Given the description of an element on the screen output the (x, y) to click on. 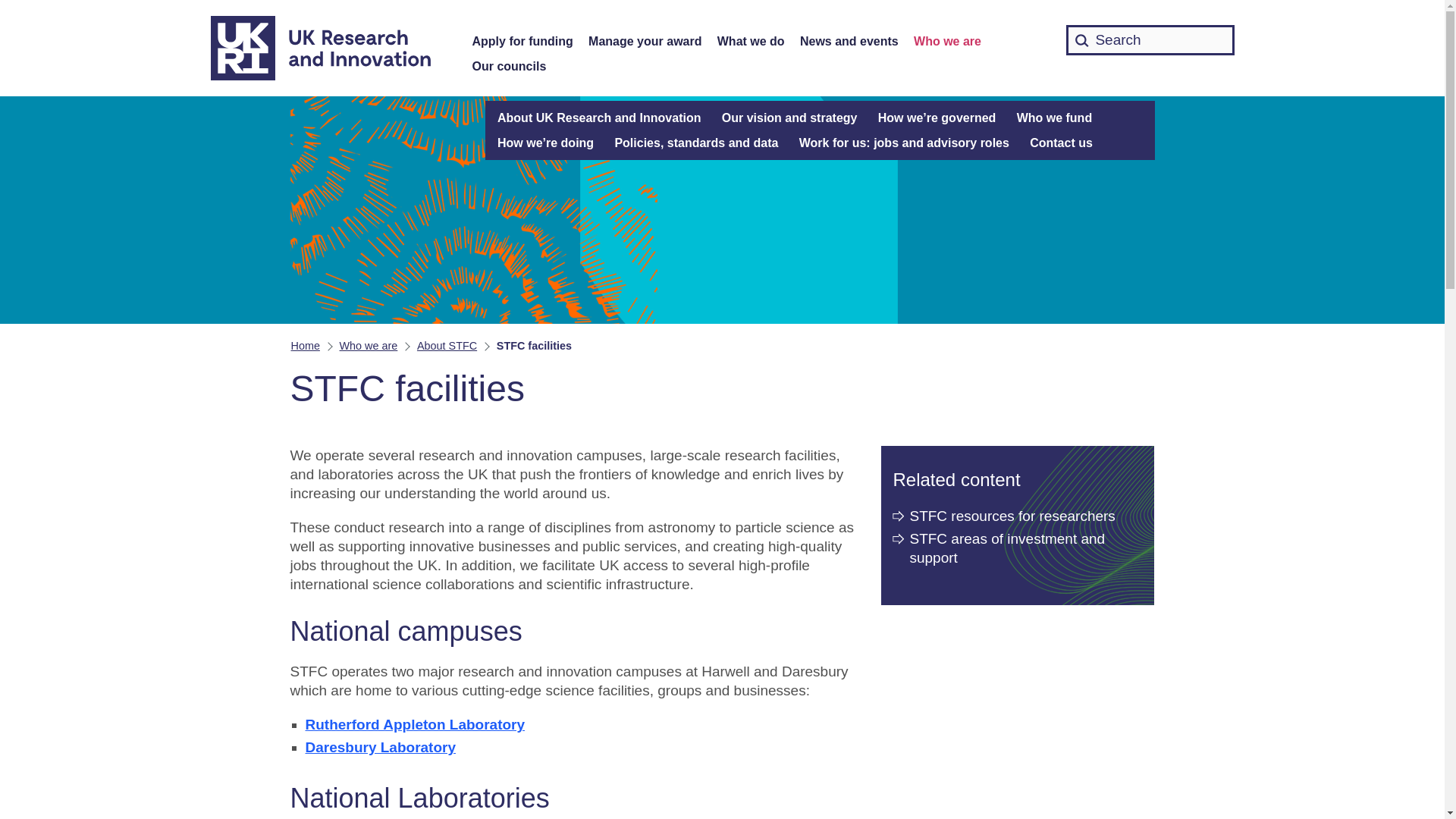
What we do (750, 41)
Manage your award (644, 41)
Skip to main content (11, 7)
Our councils (508, 66)
Apply for funding (521, 41)
Who we are (947, 41)
News and events (848, 41)
